Given the description of an element on the screen output the (x, y) to click on. 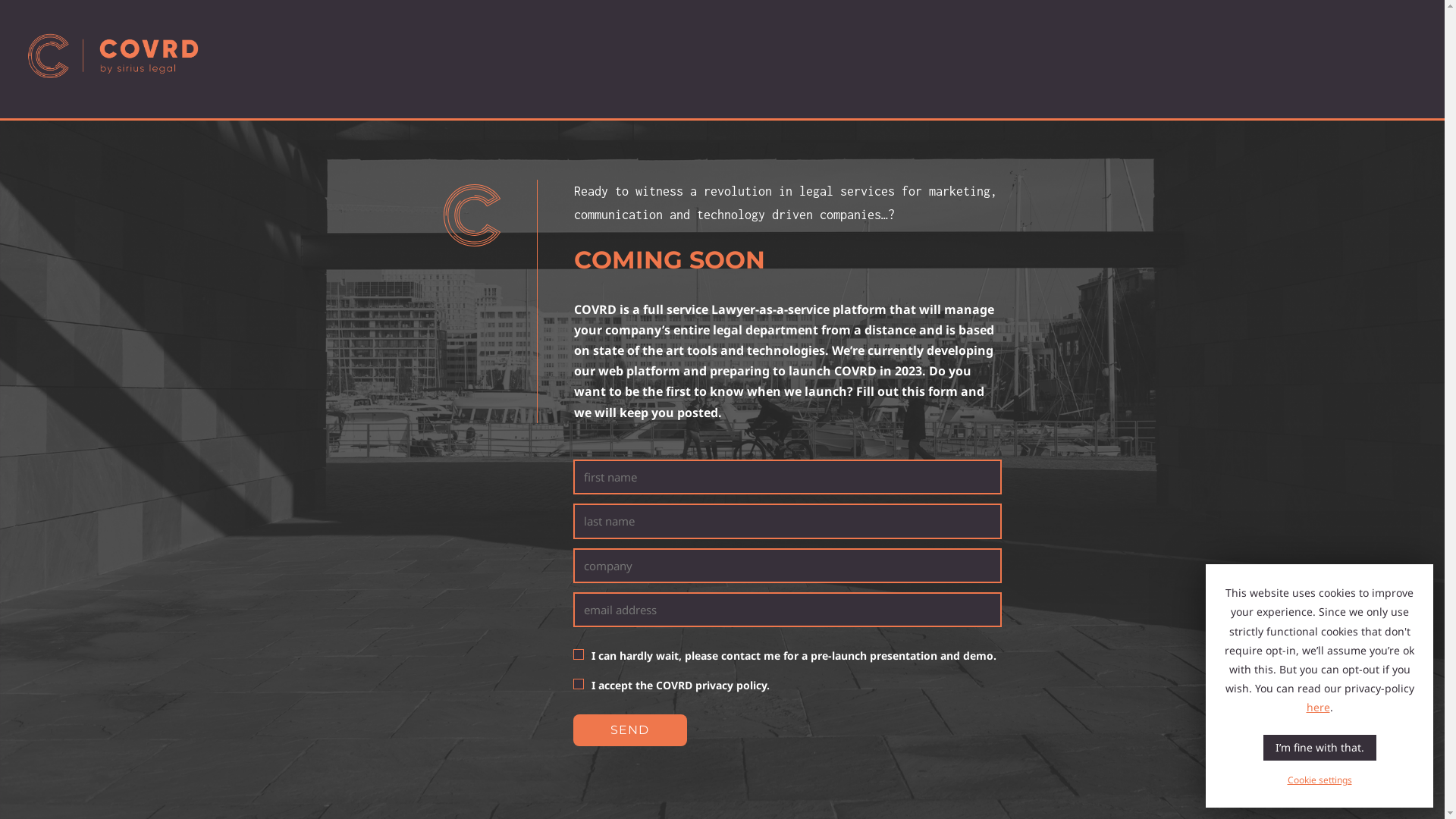
here Element type: text (1317, 706)
Send Element type: text (630, 730)
Cookie settings Element type: text (1319, 779)
